Given the description of an element on the screen output the (x, y) to click on. 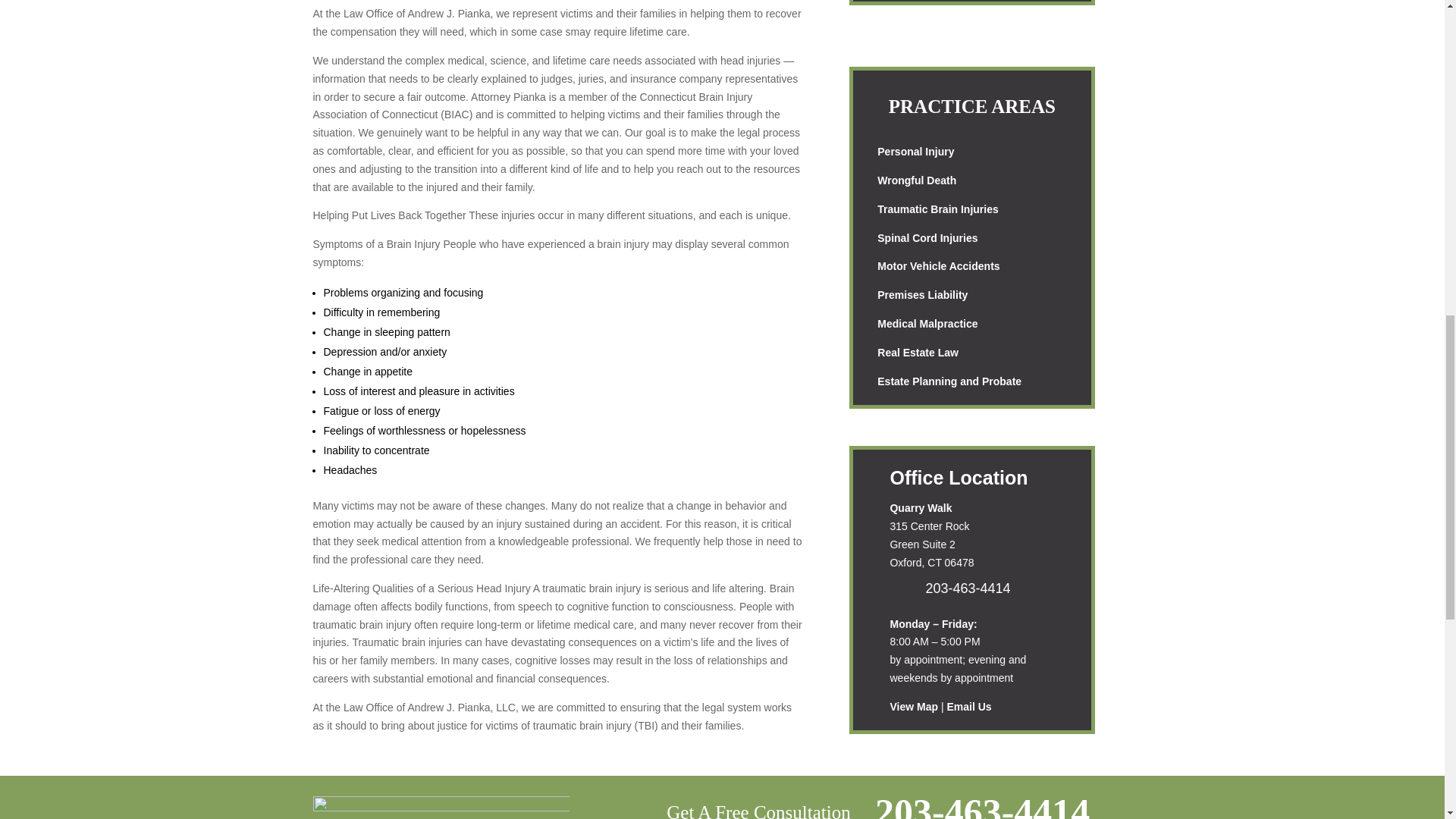
Logo-onGreen (441, 807)
Estate Planning and Probate (949, 381)
Medical Malpractice (926, 323)
Premises Liability (922, 295)
Wrongful Death (916, 180)
View Map (913, 706)
Personal Injury (915, 151)
Traumatic Brain Injuries (937, 209)
Motor Vehicle Accidents (937, 265)
Spinal Cord Injuries (926, 237)
